Given the description of an element on the screen output the (x, y) to click on. 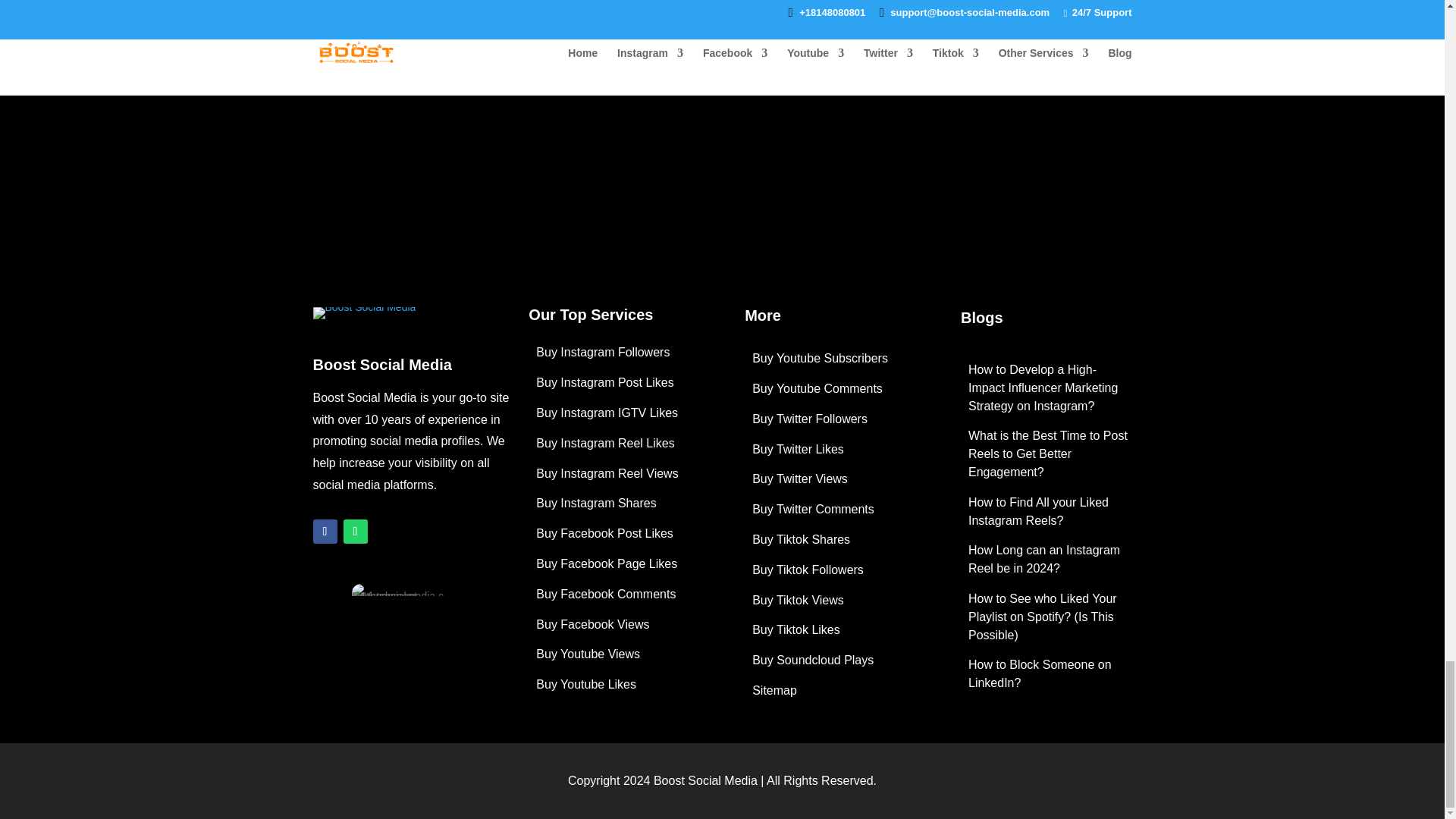
BSM Logo (363, 319)
Boostsocialmedia.com USA payment methods (398, 595)
Follow on Facebook (324, 531)
Follow on WhatsApp (354, 531)
